Given the description of an element on the screen output the (x, y) to click on. 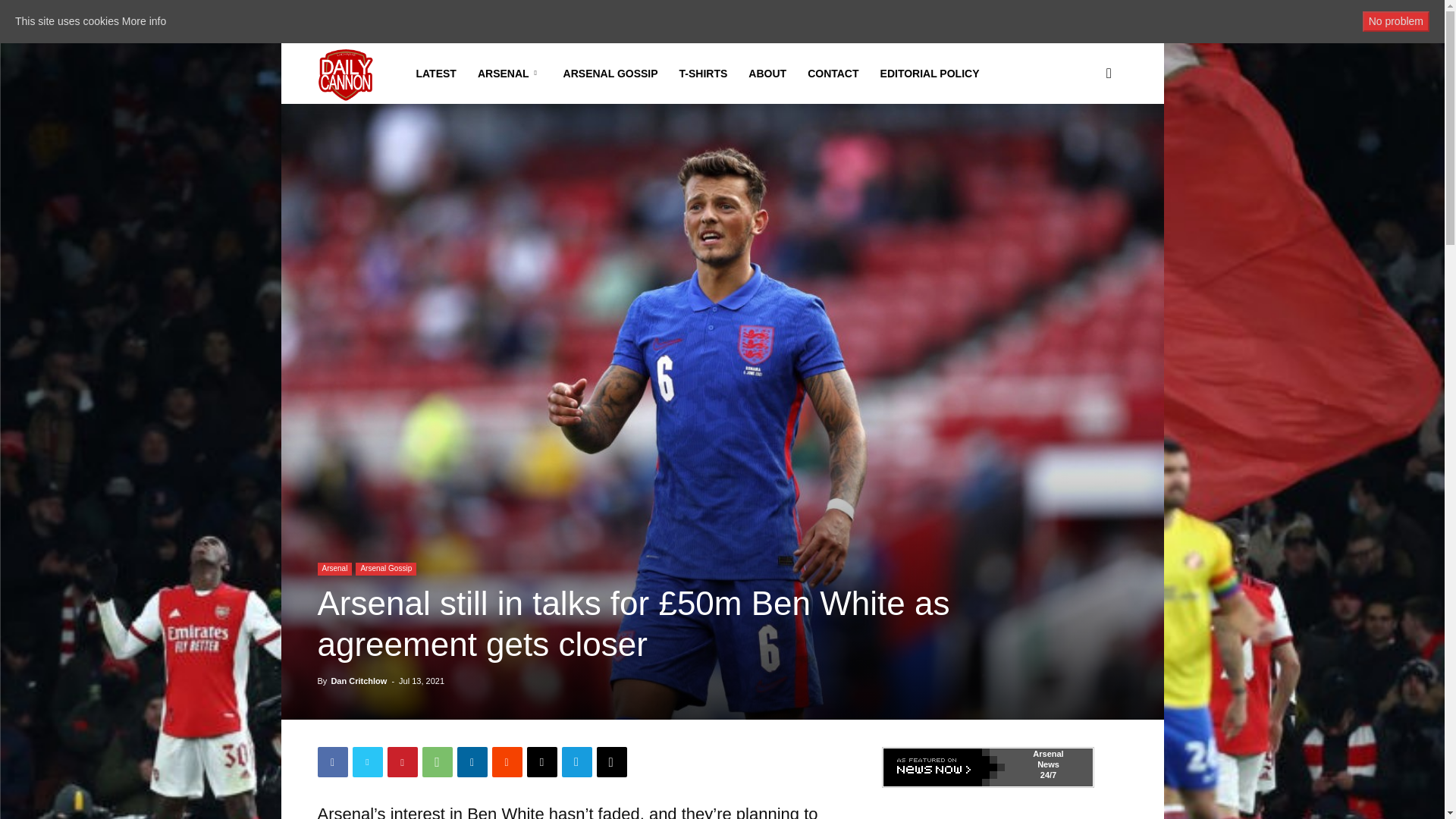
WhatsApp (436, 761)
Search (1085, 146)
ReddIt (506, 761)
Twitter (366, 761)
Telegram (575, 761)
Copy URL (610, 761)
Linkedin (471, 761)
Email (540, 761)
Pinterest (401, 761)
Facebook (332, 761)
